Given the description of an element on the screen output the (x, y) to click on. 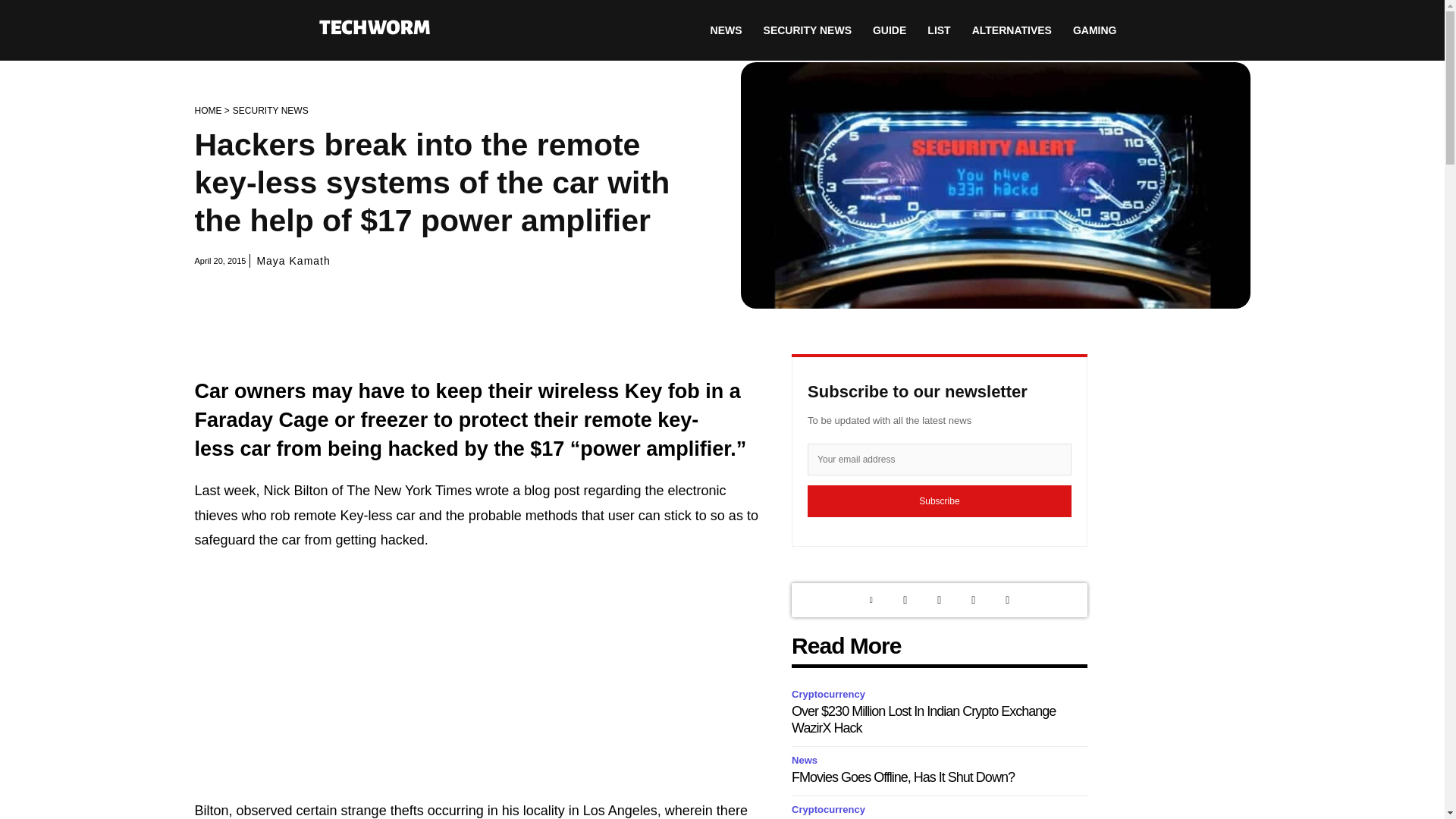
Subscribe (939, 500)
GAMING (1094, 30)
View all posts in Security news (270, 110)
Cryptocurrency (830, 694)
SECURITY NEWS (806, 30)
Youtube (1007, 600)
News (807, 760)
Instagram (939, 600)
Maya Kamath (293, 260)
SECURITY NEWS (270, 110)
Cryptocurrency (830, 810)
ALTERNATIVES (1011, 30)
Linkedin (870, 600)
Twitter (904, 600)
FMovies Goes Offline, Has It Shut Down? (903, 776)
